Given the description of an element on the screen output the (x, y) to click on. 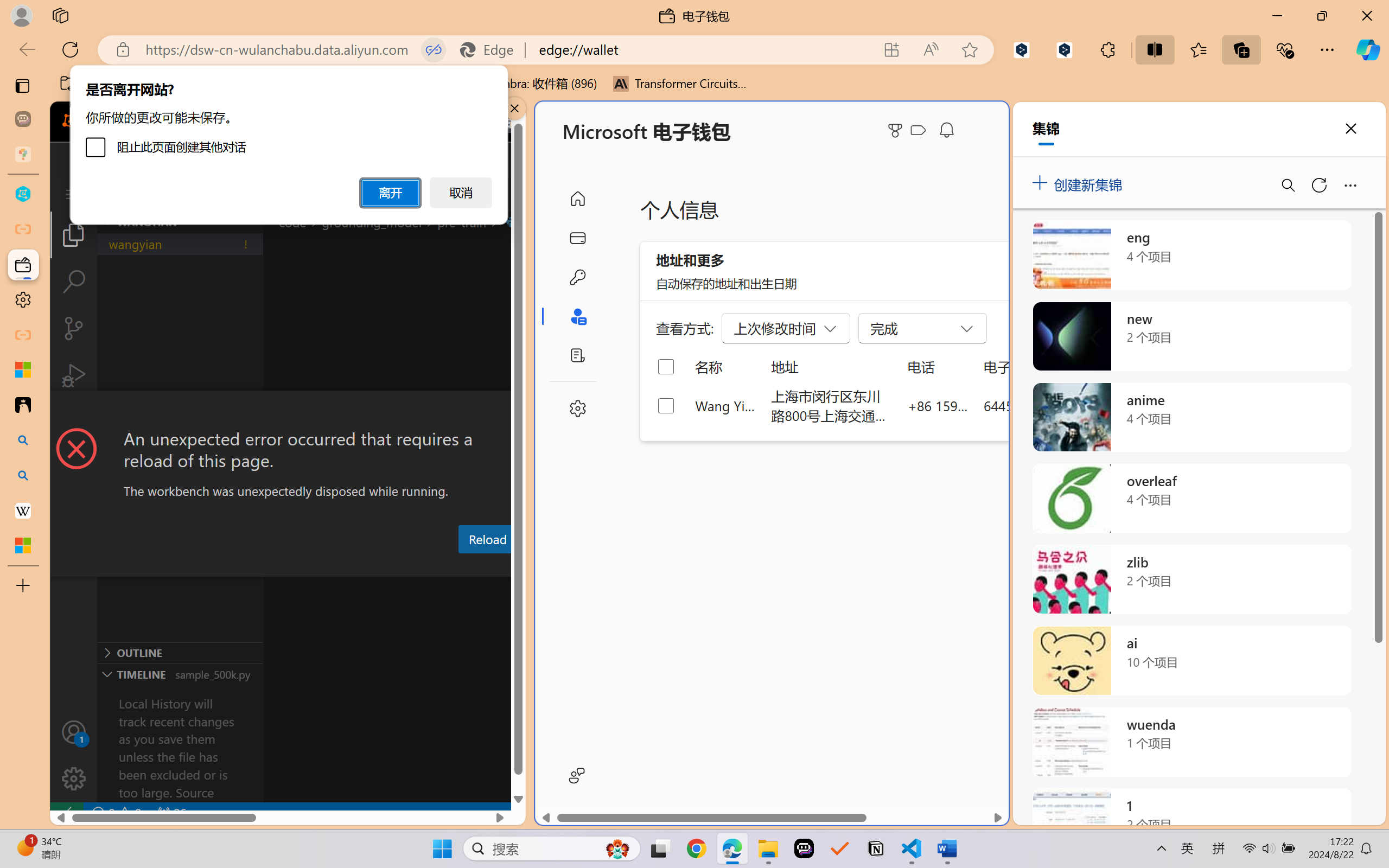
Run and Debug (Ctrl+Shift+D) (73, 375)
